Given the description of an element on the screen output the (x, y) to click on. 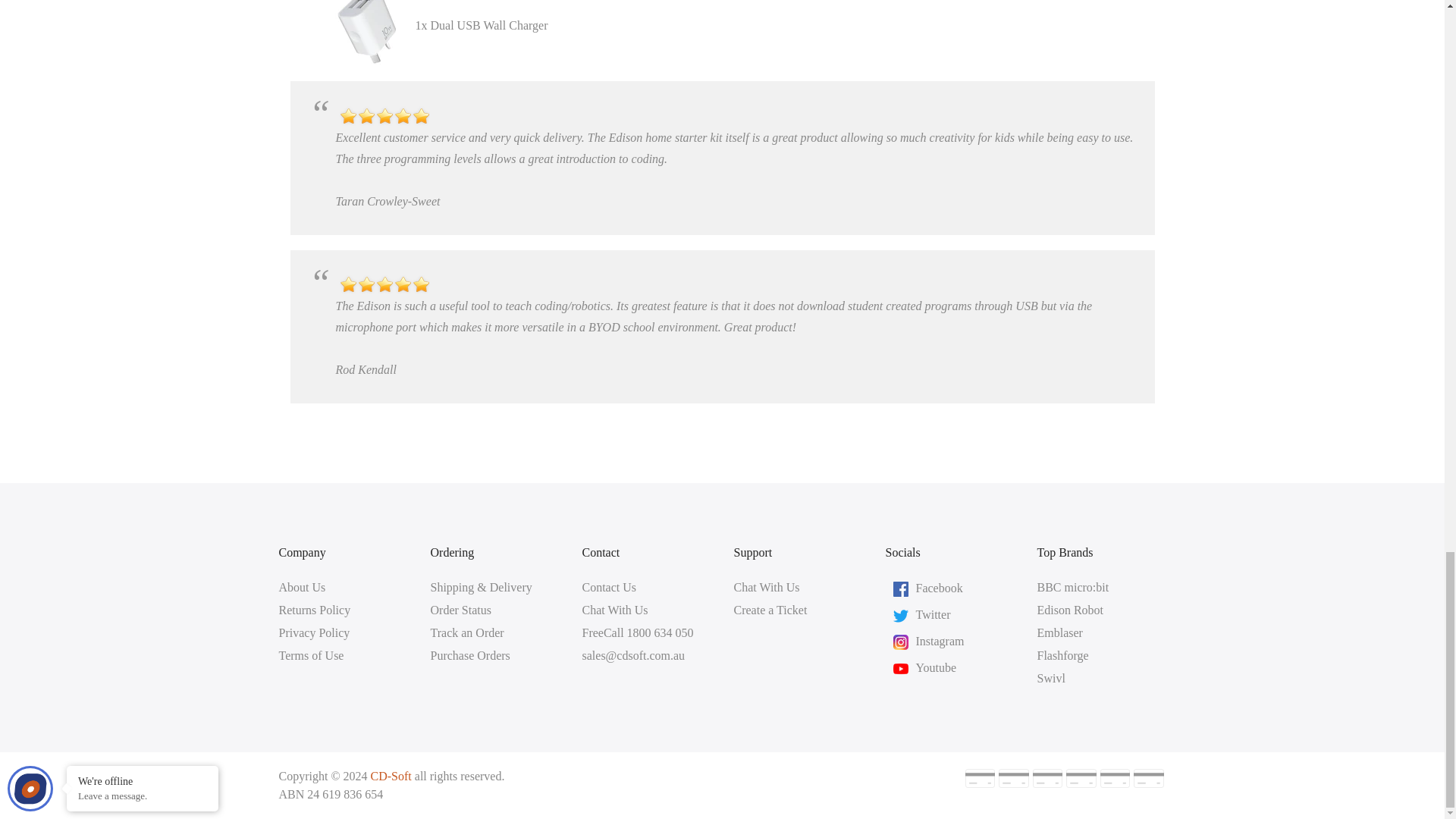
About Us (302, 586)
Purchase Orders (470, 655)
Twitter (932, 613)
Privacy Policy (314, 632)
Terms of Use (311, 655)
Facebook (938, 586)
Chat With Us (766, 586)
Track an Order (466, 632)
Create a Ticket (770, 609)
Instagram (939, 640)
Returns Policy (314, 609)
Order Status (461, 609)
